Given the description of an element on the screen output the (x, y) to click on. 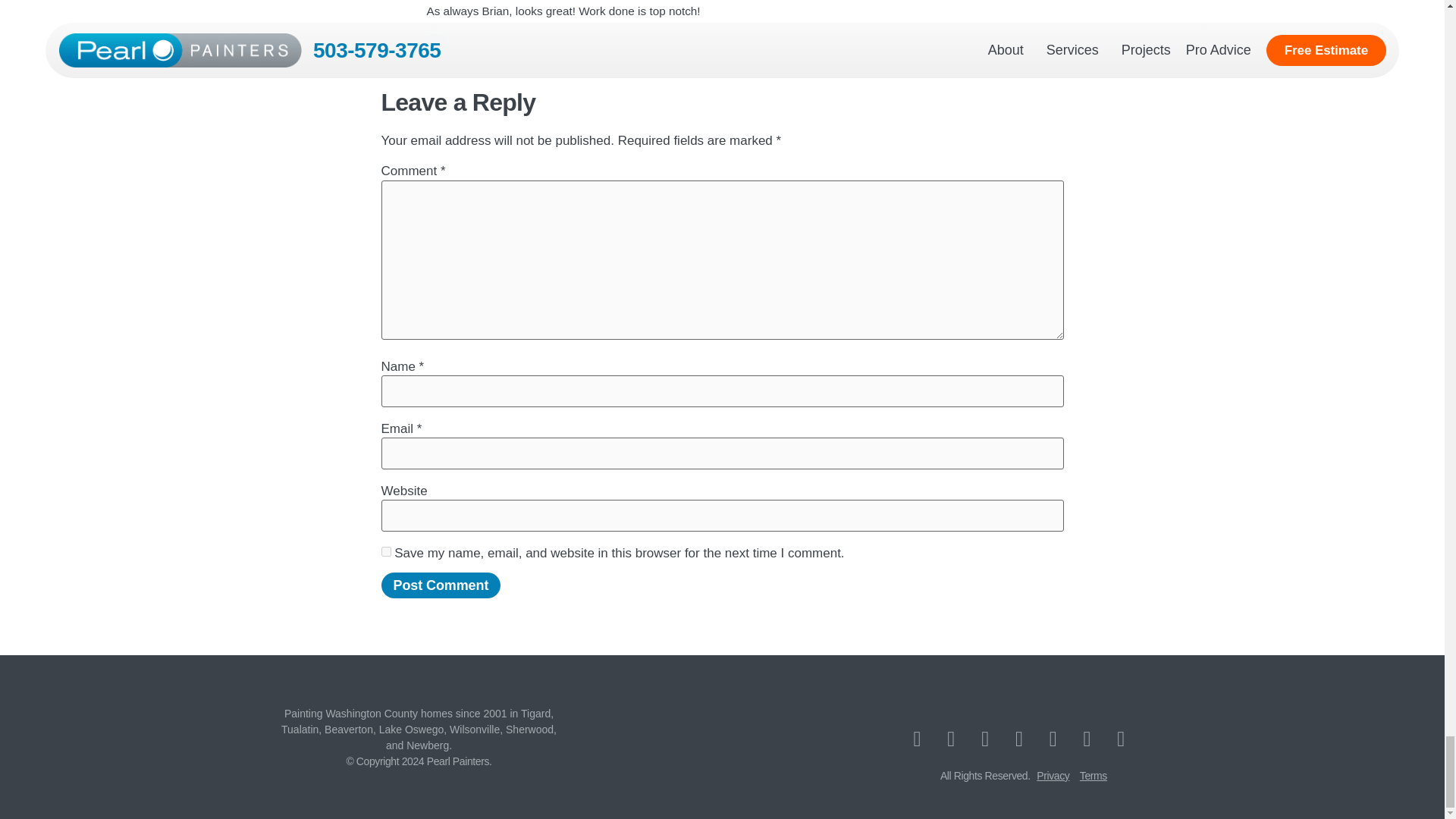
Post Comment (440, 585)
yes (385, 551)
